Given the description of an element on the screen output the (x, y) to click on. 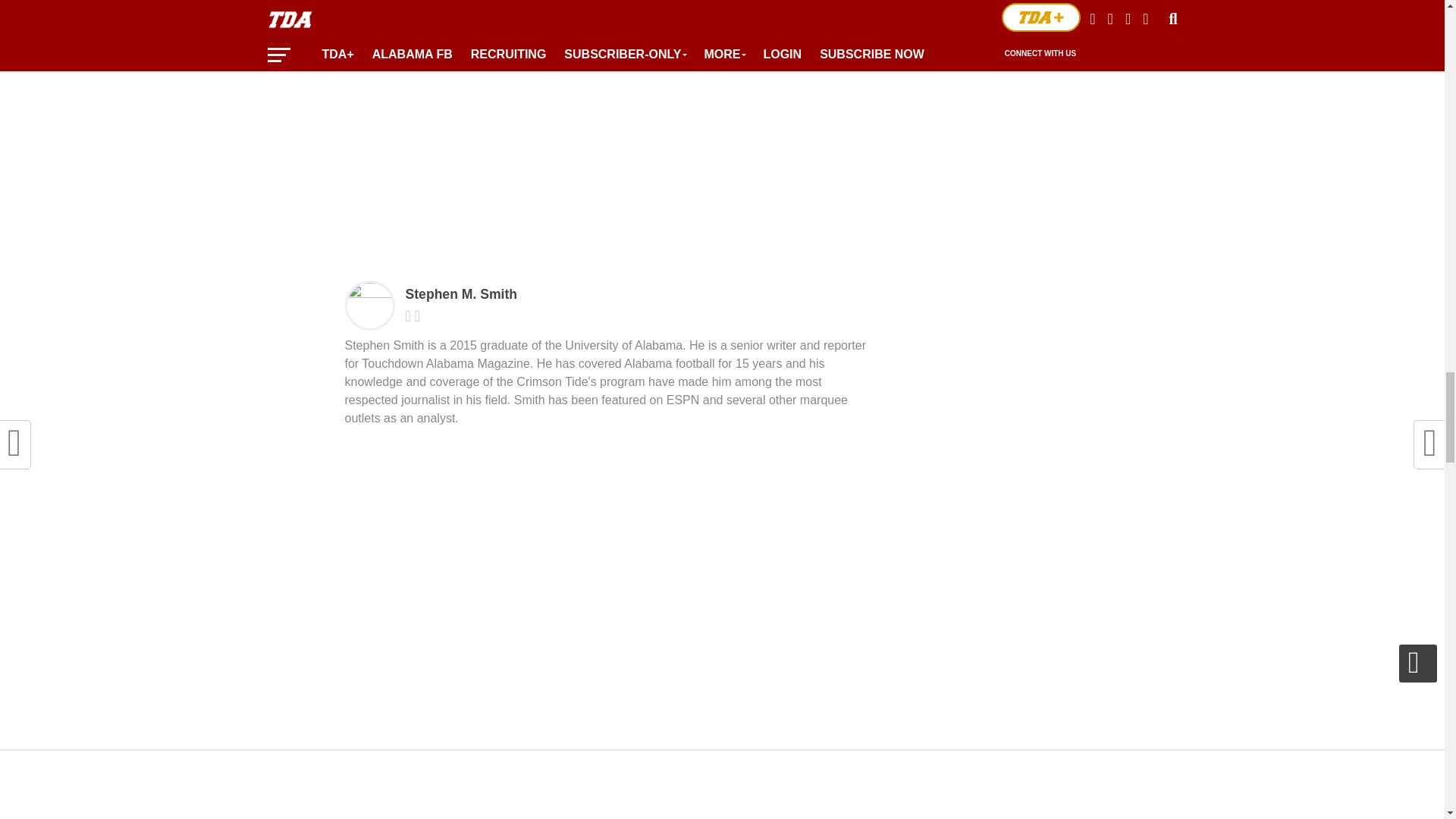
Posts by Stephen M. Smith (460, 294)
